Given the description of an element on the screen output the (x, y) to click on. 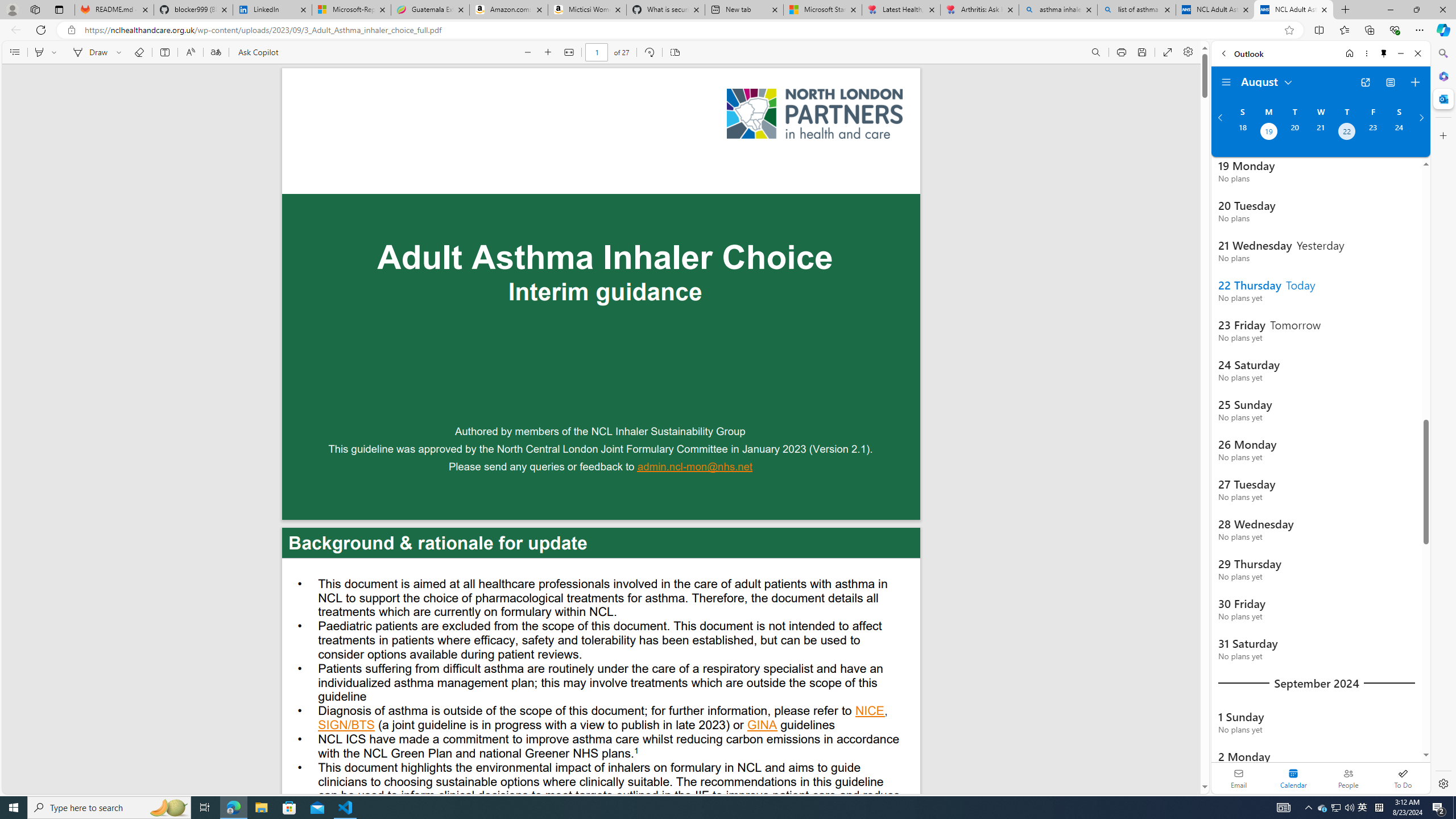
Rotate (Ctrl+]) (649, 52)
August (1267, 80)
Tuesday, August 20, 2024.  (1294, 132)
GINA  (761, 726)
SIGN/BTS (346, 726)
Page number (596, 52)
Read aloud (189, 52)
Monday, August 19, 2024. Date selected.  (1268, 132)
